Given the description of an element on the screen output the (x, y) to click on. 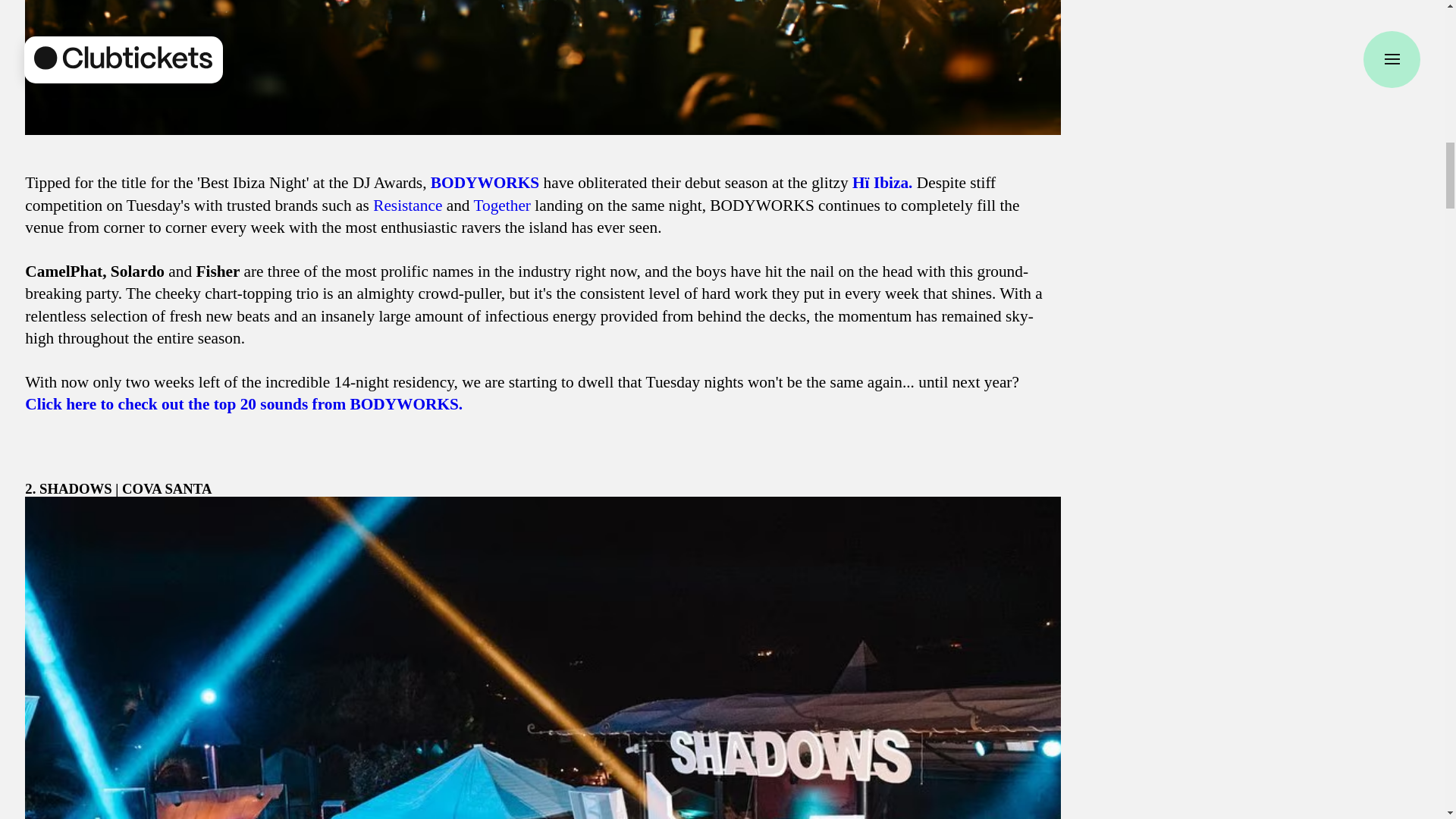
BODYWORKS (484, 182)
Click here to check out the top 20 sounds from BODYWORKS. (243, 403)
Together (502, 205)
Resistance (407, 205)
